Given the description of an element on the screen output the (x, y) to click on. 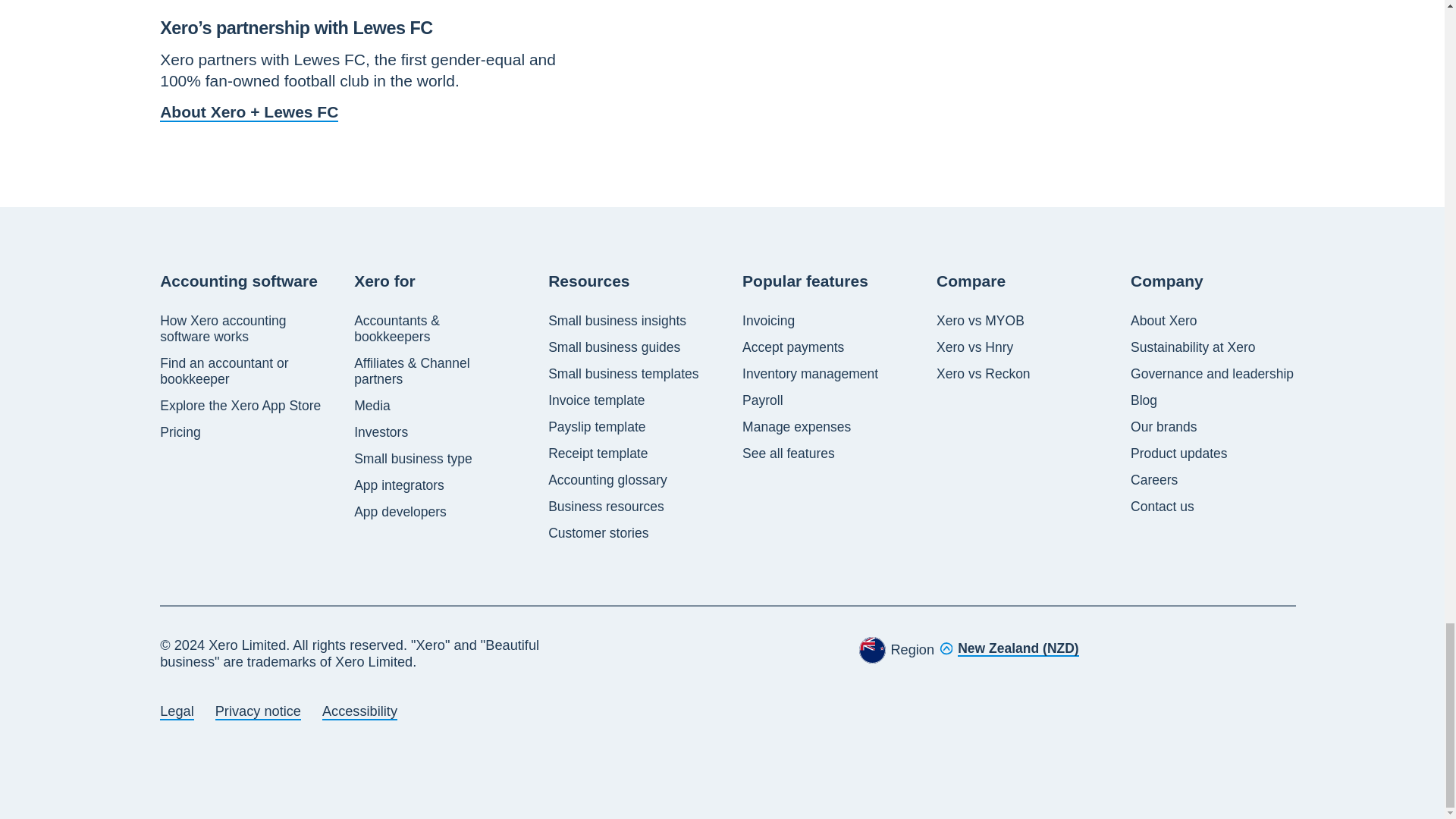
Small business templates (623, 373)
App integrators (398, 485)
Small business guides (613, 347)
Explore the Xero App Store (240, 405)
Investors (380, 432)
How Xero accounting software works (242, 327)
Small business insights (616, 320)
Invoice template (596, 400)
Pricing (180, 432)
App developers (399, 511)
